Given the description of an element on the screen output the (x, y) to click on. 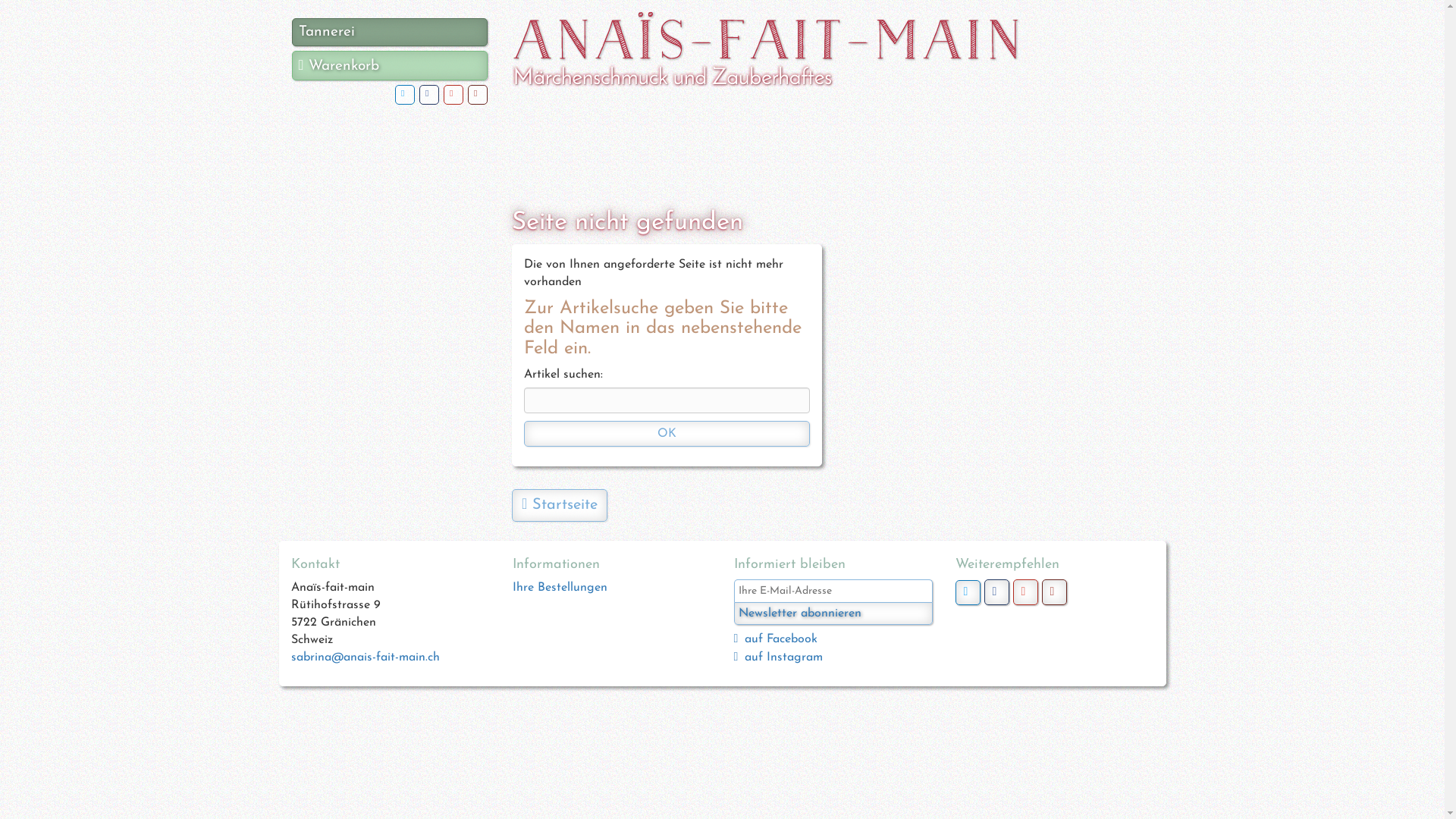
Ihre Bestellungen Element type: text (559, 587)
OK Element type: text (666, 433)
sabrina@anais-fait-main.ch Element type: text (365, 657)
Warenkorb Element type: text (389, 65)
Tannerei Element type: text (389, 31)
Newsletter abonnieren Element type: text (833, 613)
auf Facebook Element type: text (780, 639)
Startseite Element type: text (559, 505)
auf Instagram Element type: text (783, 657)
